Given the description of an element on the screen output the (x, y) to click on. 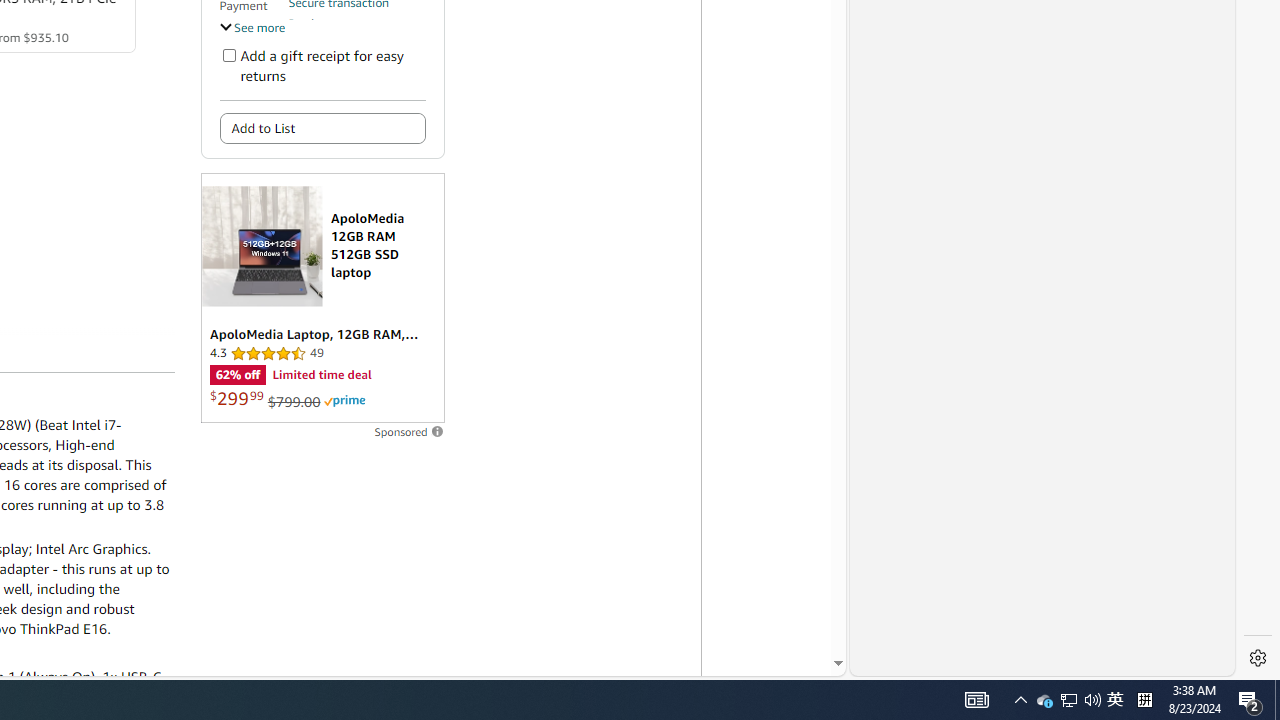
Product support included (357, 31)
Add to List (322, 128)
Add a gift receipt for easy returns (228, 54)
Sponsored ad (322, 297)
Prime (344, 400)
